Given the description of an element on the screen output the (x, y) to click on. 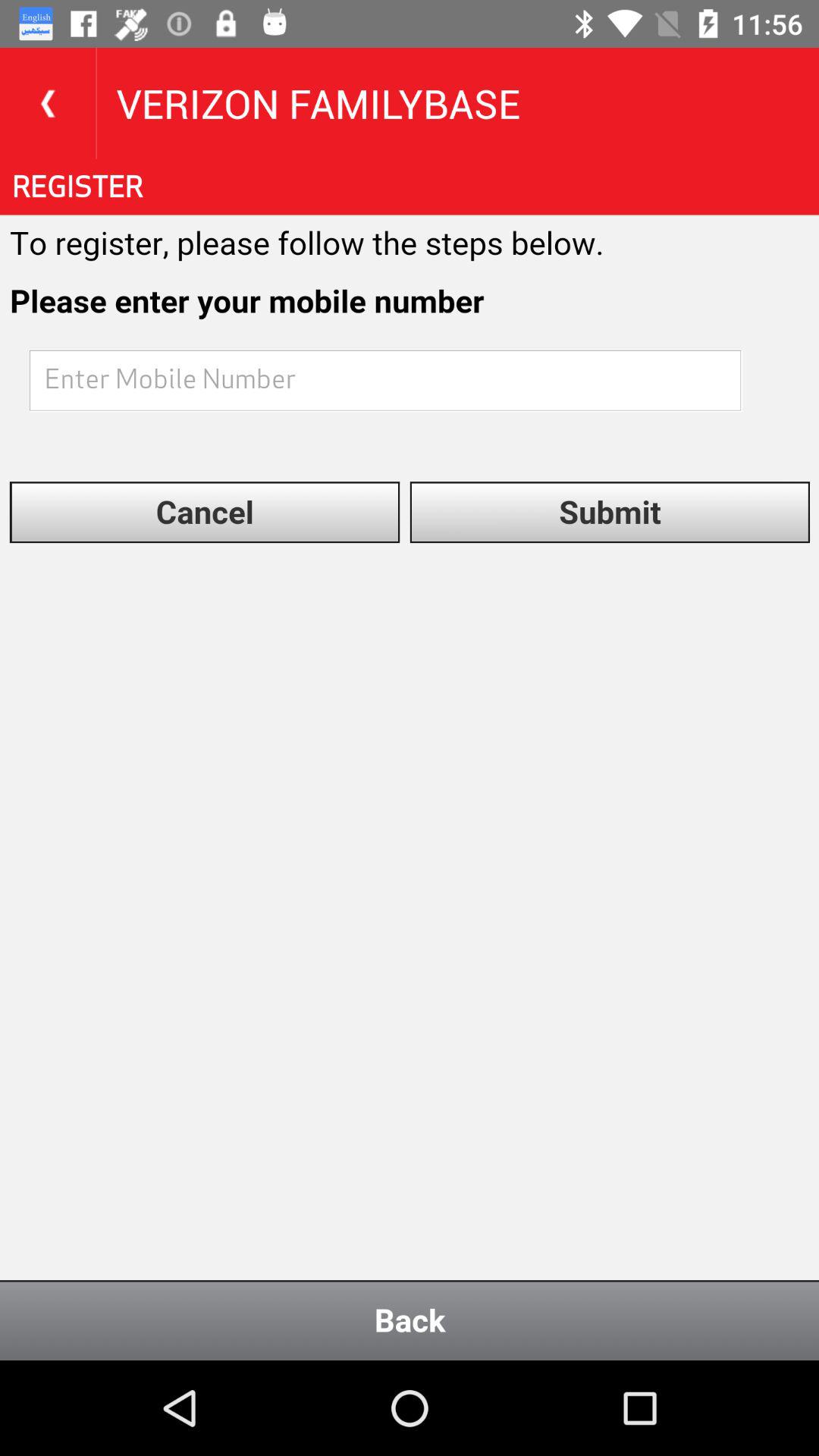
register page (409, 759)
